Given the description of an element on the screen output the (x, y) to click on. 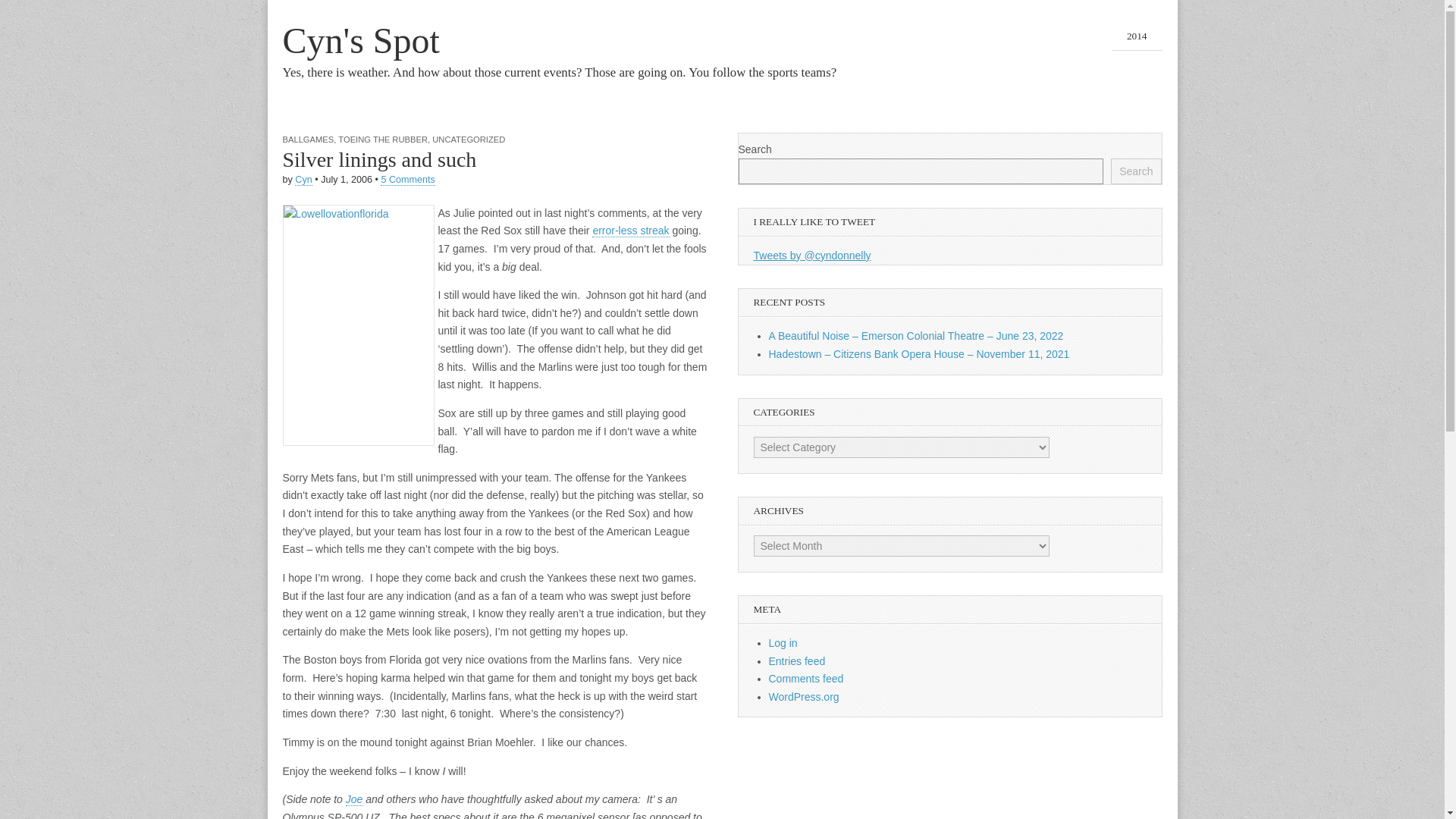
WordPress.org (804, 696)
5 Comments (406, 179)
Cyn's Spot (360, 40)
Cyn's Spot (360, 40)
UNCATEGORIZED (468, 139)
error-less streak (630, 230)
Posts by Cyn (303, 179)
Cyn (303, 179)
Entries feed (796, 661)
